Given the description of an element on the screen output the (x, y) to click on. 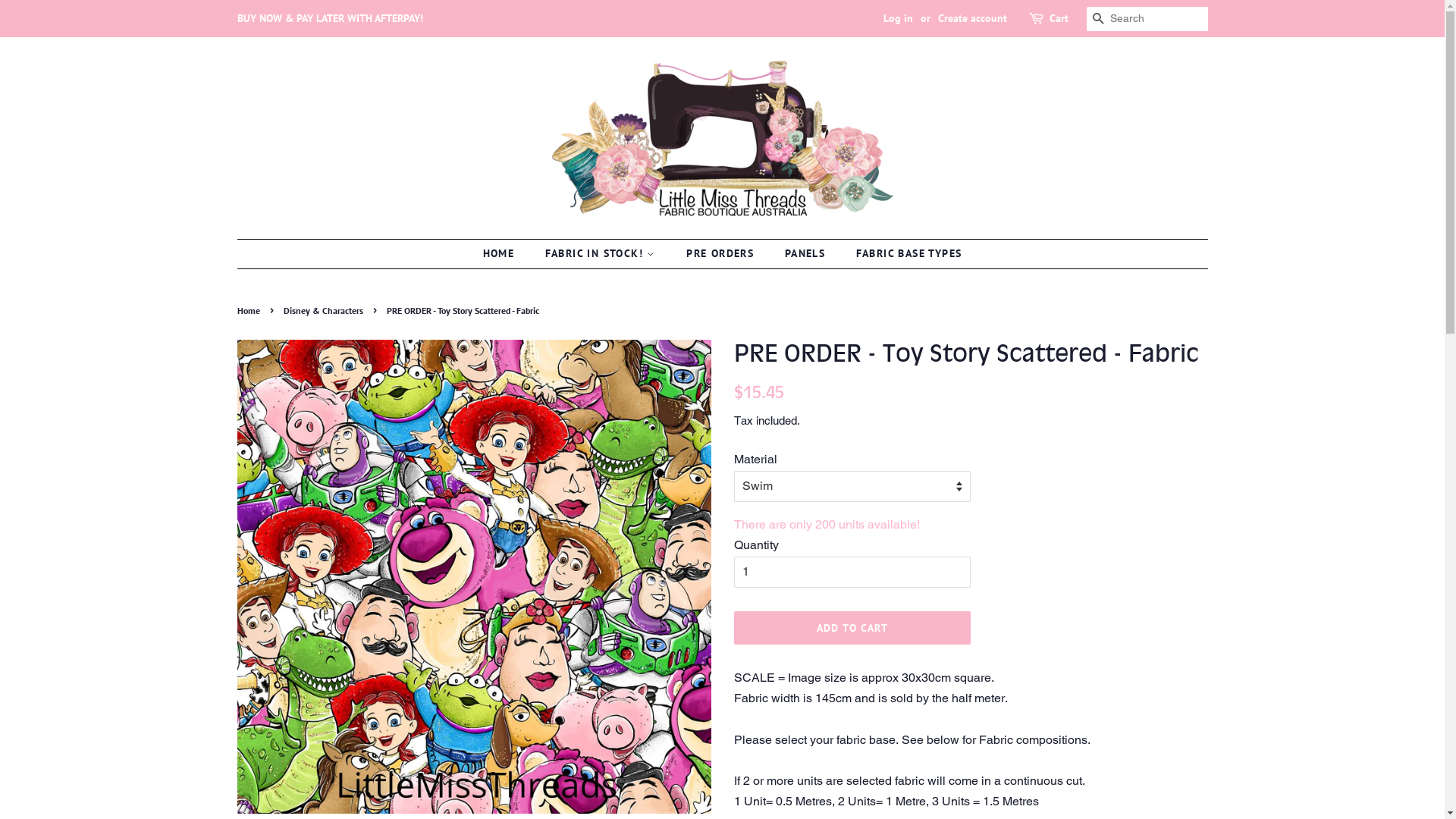
PANELS Element type: text (806, 253)
Create account Element type: text (971, 18)
Log in Element type: text (897, 18)
Disney & Characters Element type: text (325, 310)
Home Element type: text (249, 310)
HOME Element type: text (506, 253)
FABRIC IN STOCK! Element type: text (602, 253)
ADD TO CART Element type: text (852, 627)
PRE ORDERS Element type: text (721, 253)
Cart Element type: text (1058, 18)
FABRIC BASE TYPES Element type: text (903, 253)
SEARCH Element type: text (1097, 18)
